Given the description of an element on the screen output the (x, y) to click on. 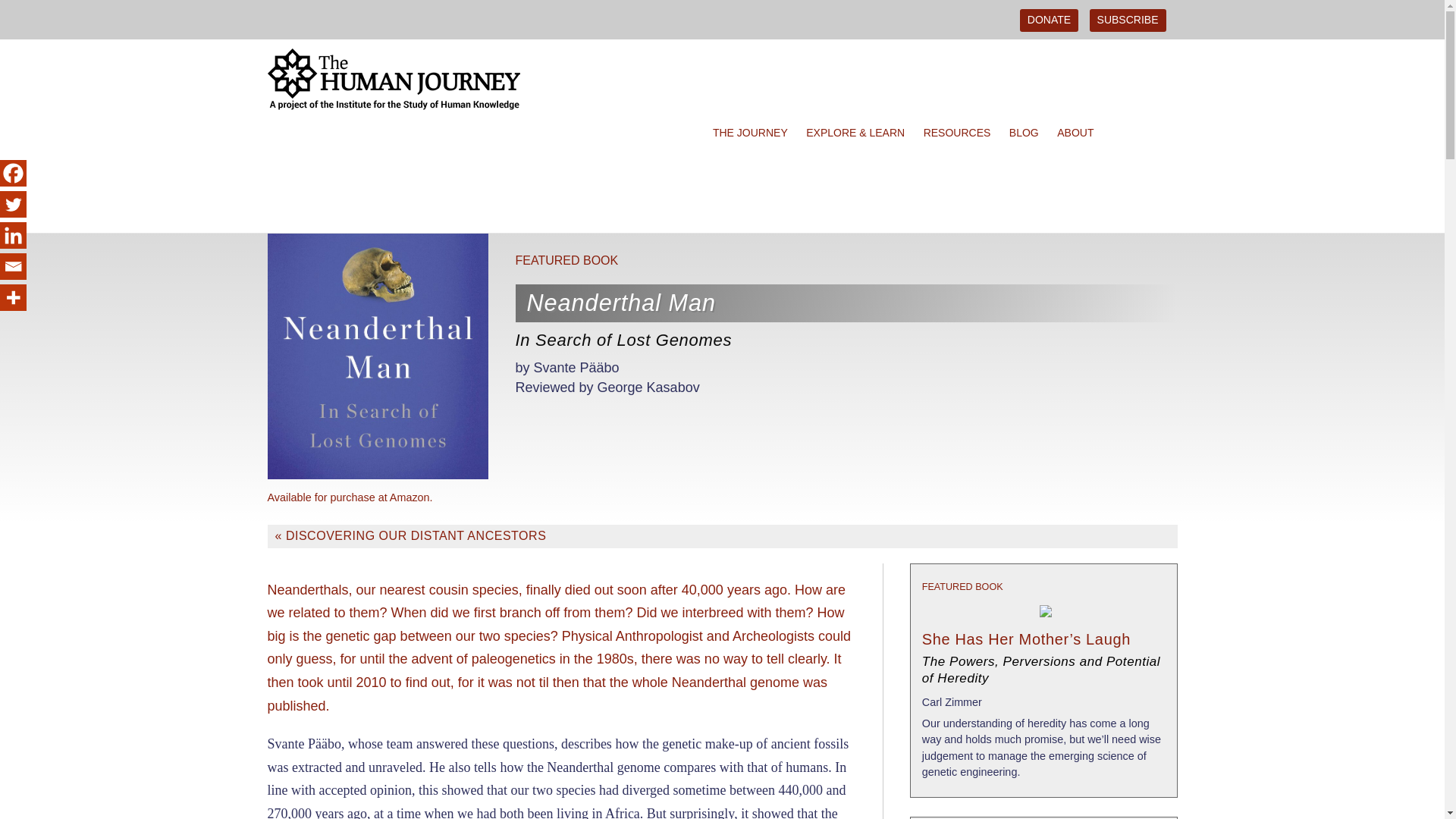
Facebook (13, 172)
THE JOURNEY (753, 133)
More (13, 297)
Twitter (13, 203)
The Human Journey (403, 133)
Available for purchase at Amazon. (349, 497)
Search (13, 12)
BLOG (1027, 133)
DONATE (1049, 20)
